Given the description of an element on the screen output the (x, y) to click on. 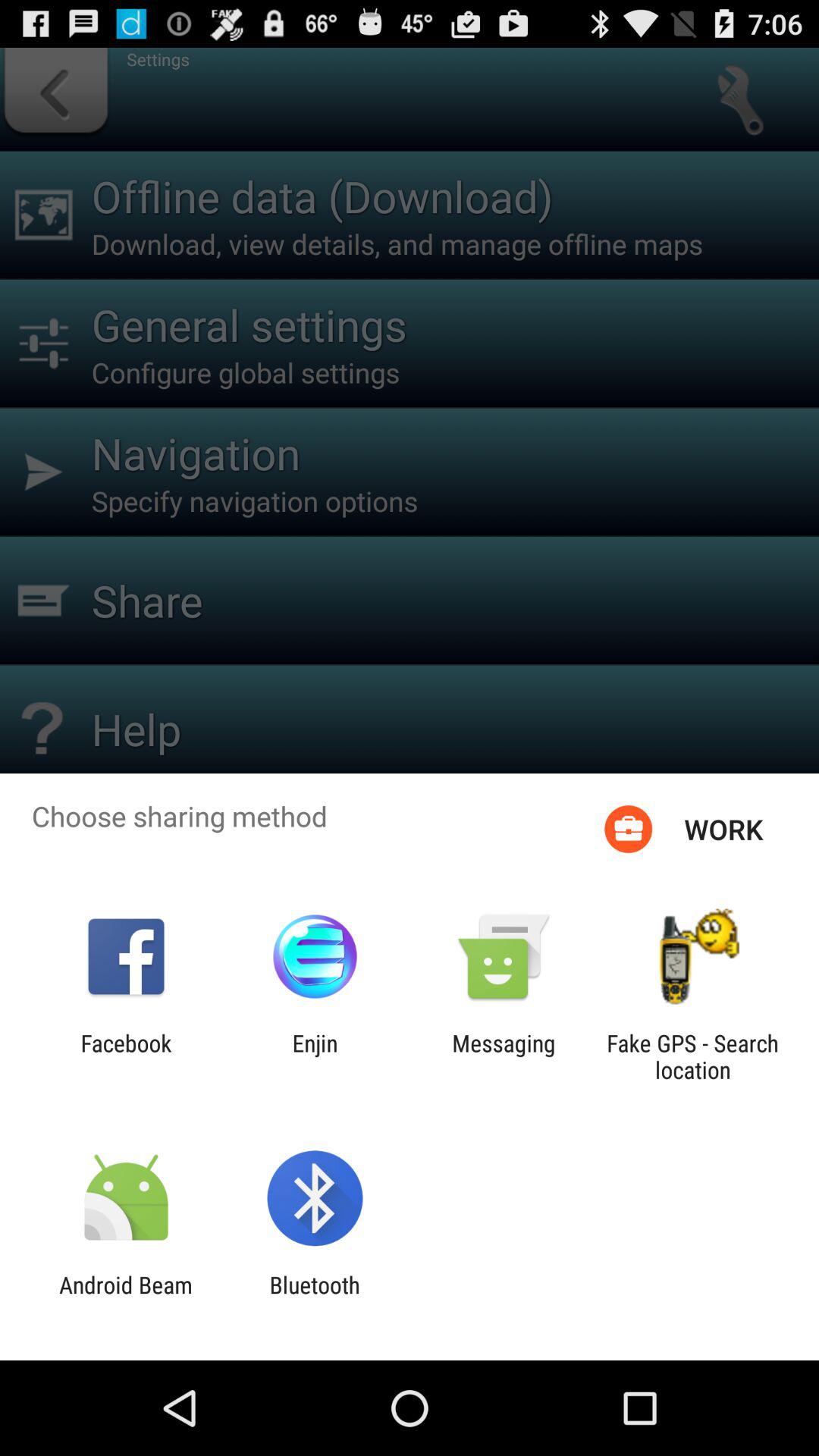
click the app to the left of the enjin (125, 1056)
